Given the description of an element on the screen output the (x, y) to click on. 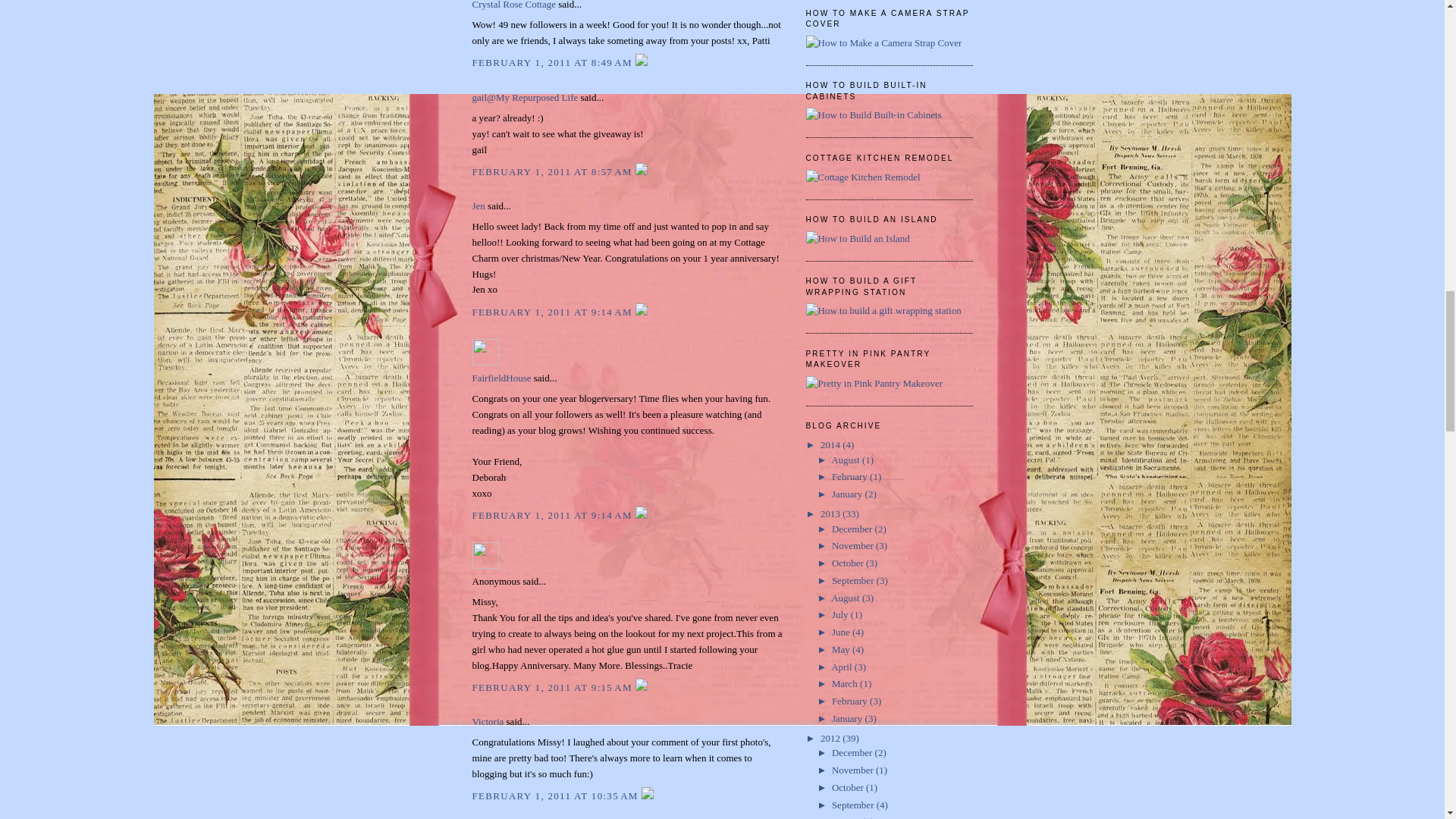
comment permalink (552, 61)
Crystal Rose Cottage (513, 4)
